Given the description of an element on the screen output the (x, y) to click on. 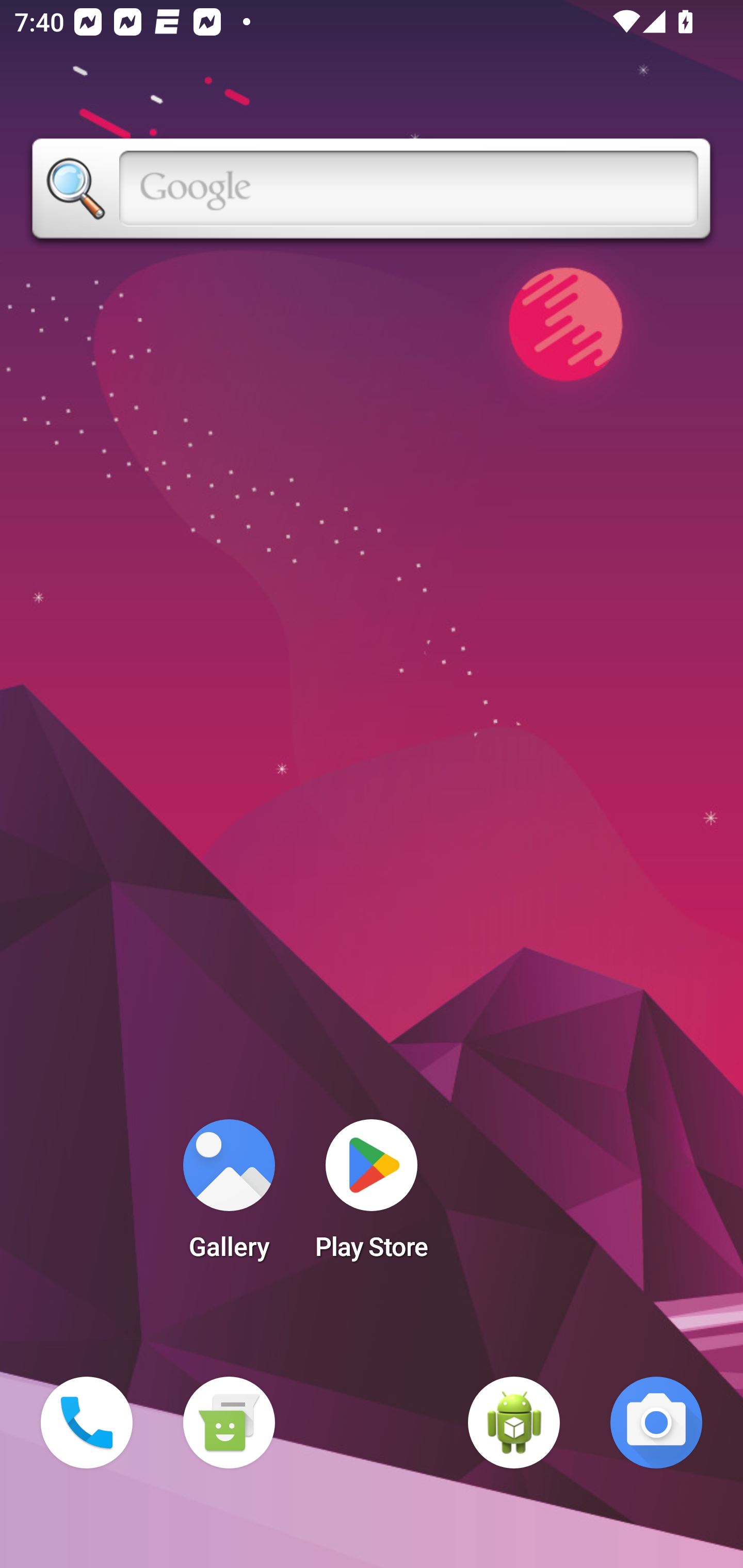
Gallery (228, 1195)
Play Store (371, 1195)
Phone (86, 1422)
Messaging (228, 1422)
WebView Browser Tester (513, 1422)
Camera (656, 1422)
